Given the description of an element on the screen output the (x, y) to click on. 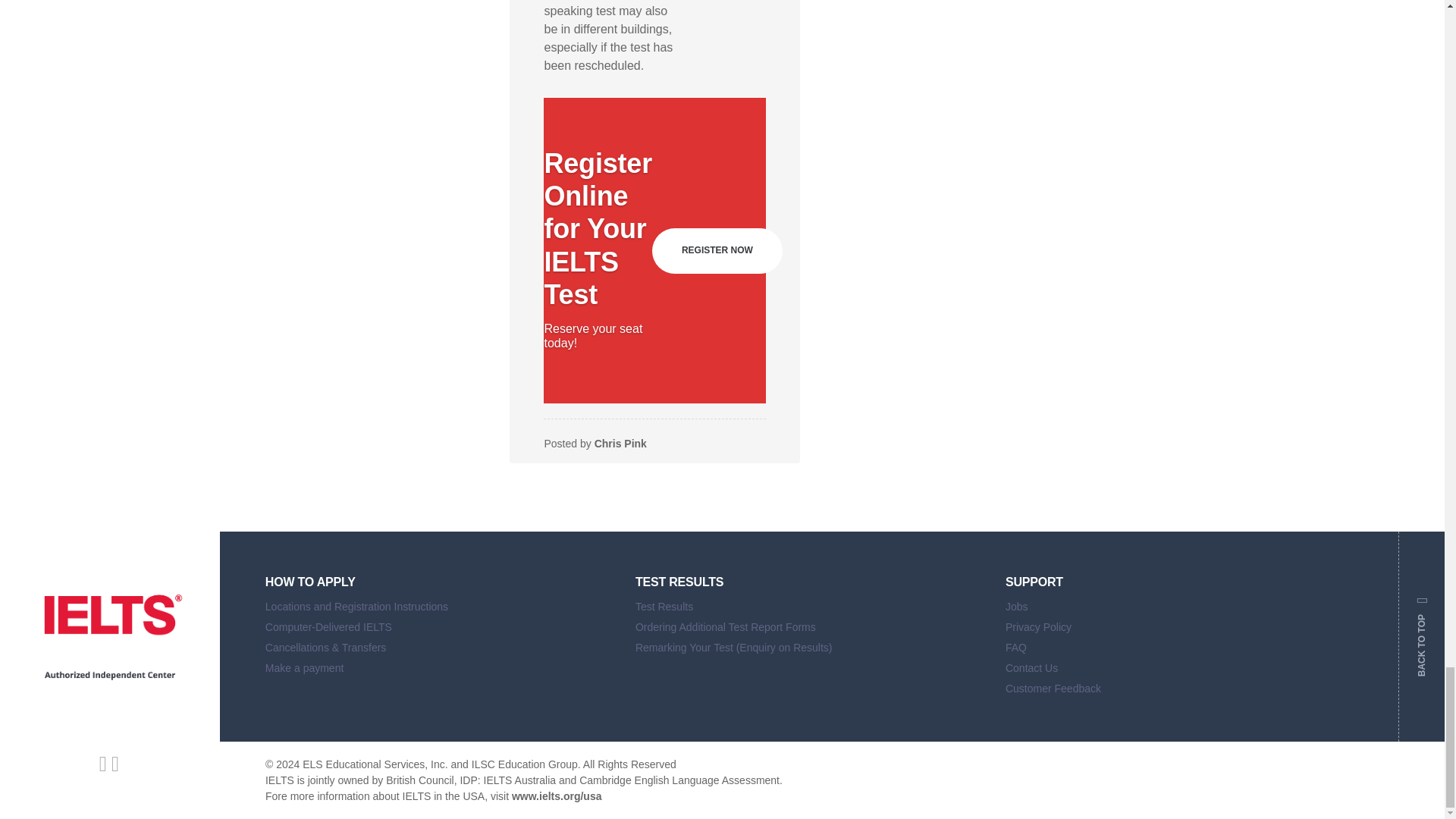
Contact Us (1179, 670)
Computer-Delivered IELTS (438, 629)
Test Results (808, 608)
Customer Feedback (1179, 690)
REGISTER NOW (717, 250)
FAQ (1179, 649)
Privacy Policy (1179, 629)
Make a payment (438, 670)
Ordering Additional Test Report Forms (808, 629)
Locations and Registration Instructions (438, 608)
Jobs (1179, 608)
